Given the description of an element on the screen output the (x, y) to click on. 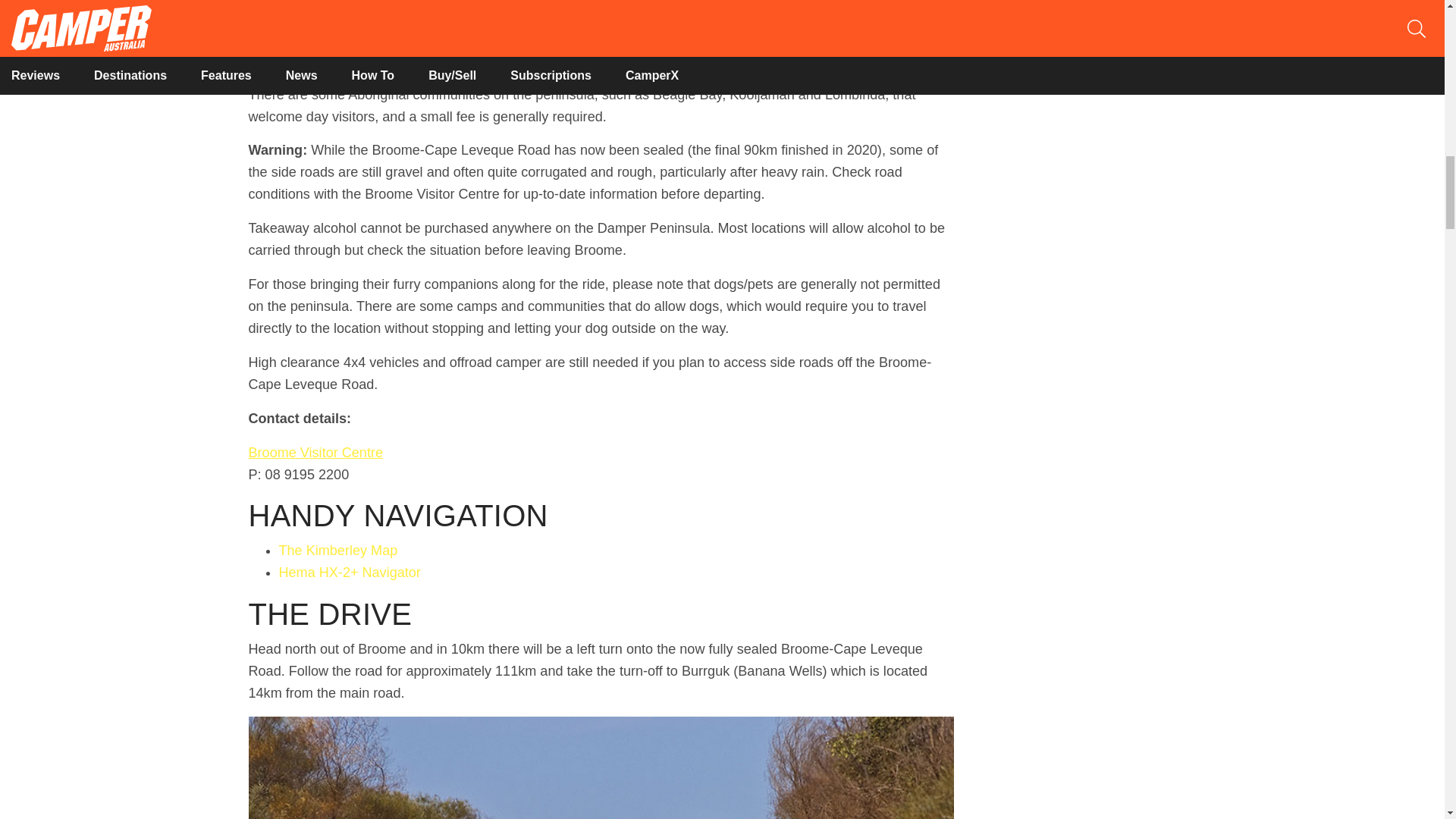
The Kimberley Map (338, 549)
Broome Visitor Centre (316, 452)
